Given the description of an element on the screen output the (x, y) to click on. 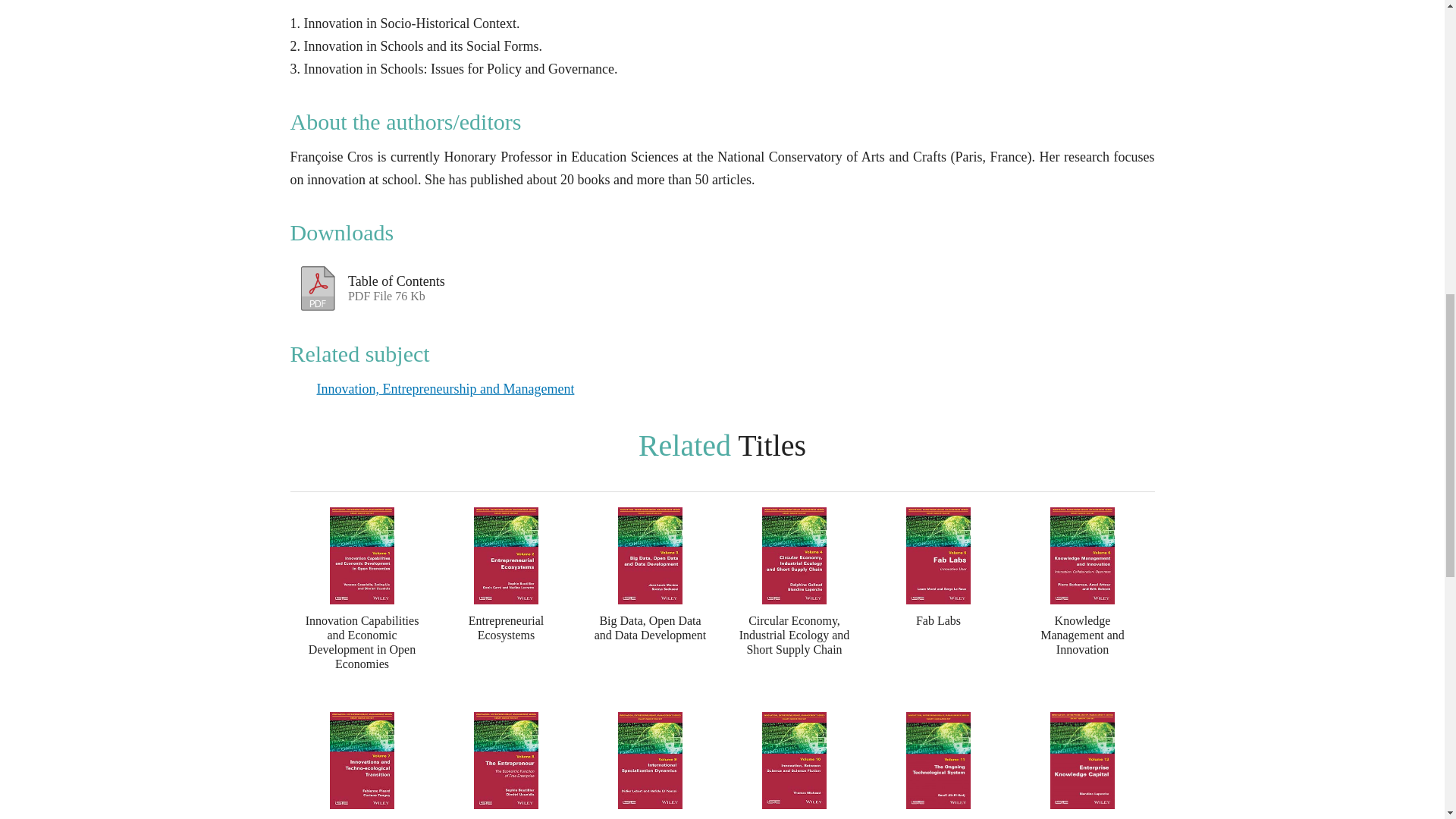
Innovations and Techno-ecological Transition (361, 765)
Download PDF file (318, 284)
Enterprise Knowledge Capital (1082, 765)
Innovation, Between Science and Science Fiction (793, 765)
International Specialization Dynamics (649, 765)
The Ongoing Technological System (938, 765)
Innovation, Entrepreneurship and Management (446, 388)
The Entrepreneur (505, 765)
